Given the description of an element on the screen output the (x, y) to click on. 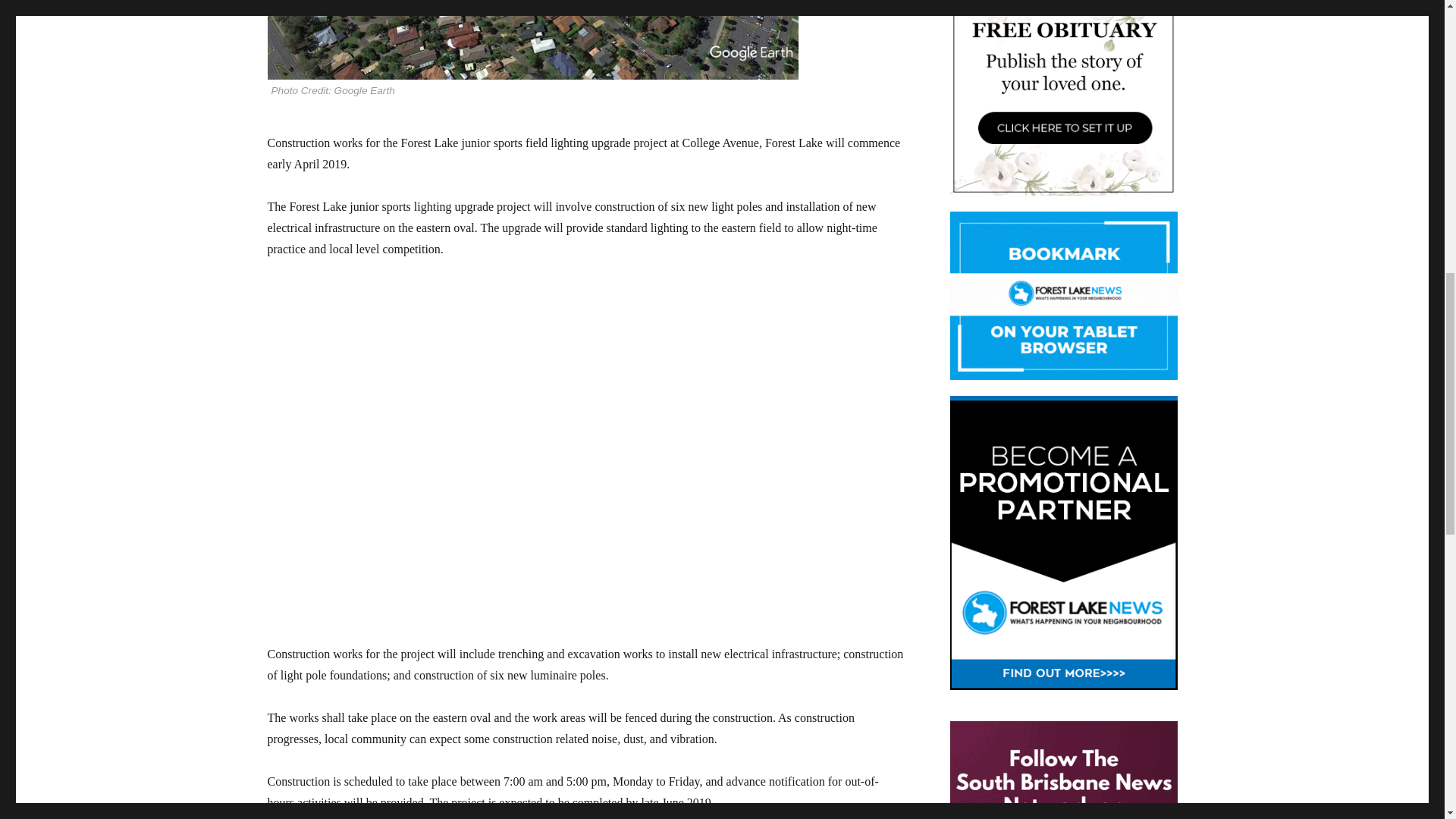
Photo Credit: Google Earth (585, 50)
